Given the description of an element on the screen output the (x, y) to click on. 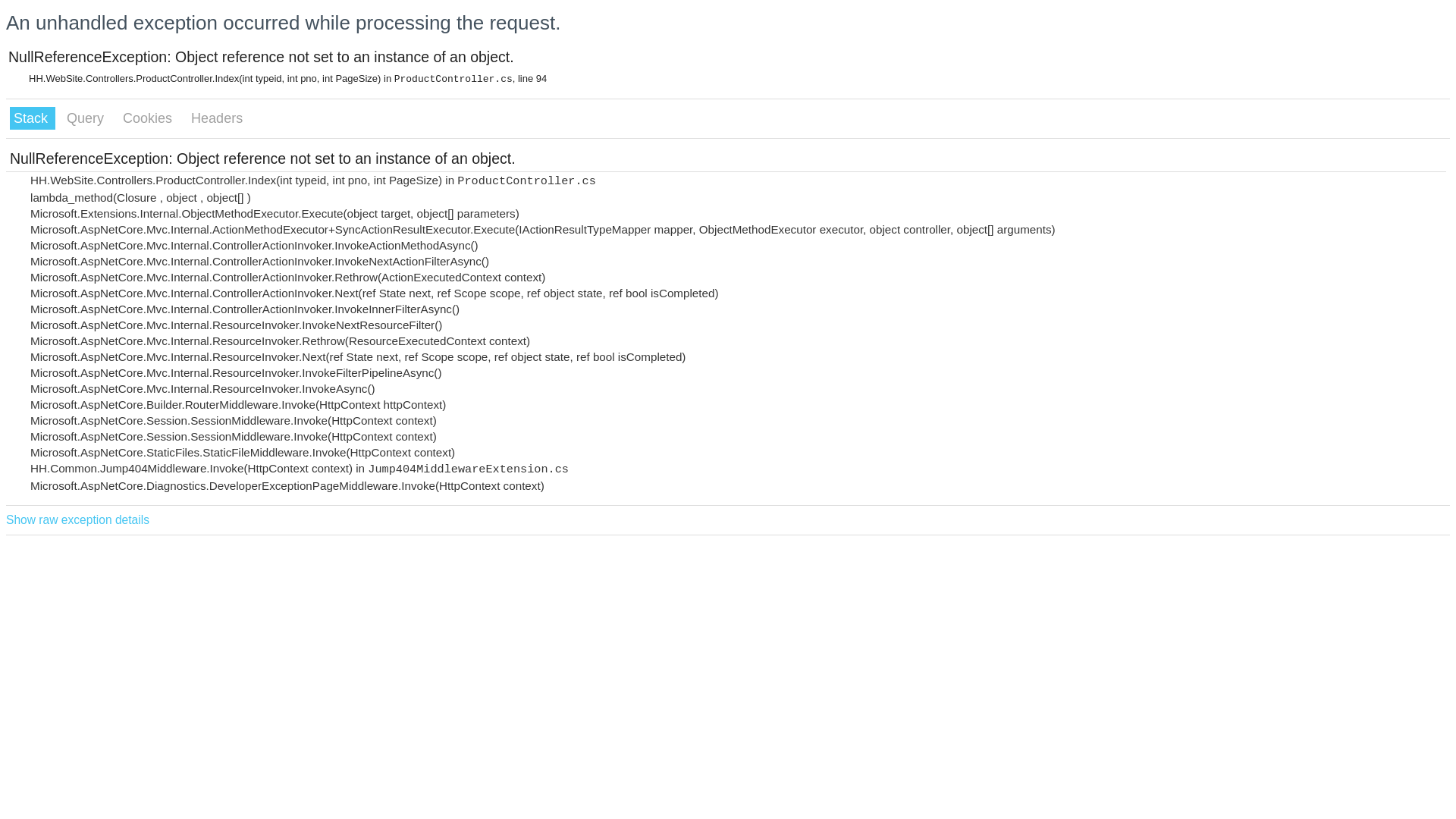
Show raw exception details Element type: text (77, 520)
